Given the description of an element on the screen output the (x, y) to click on. 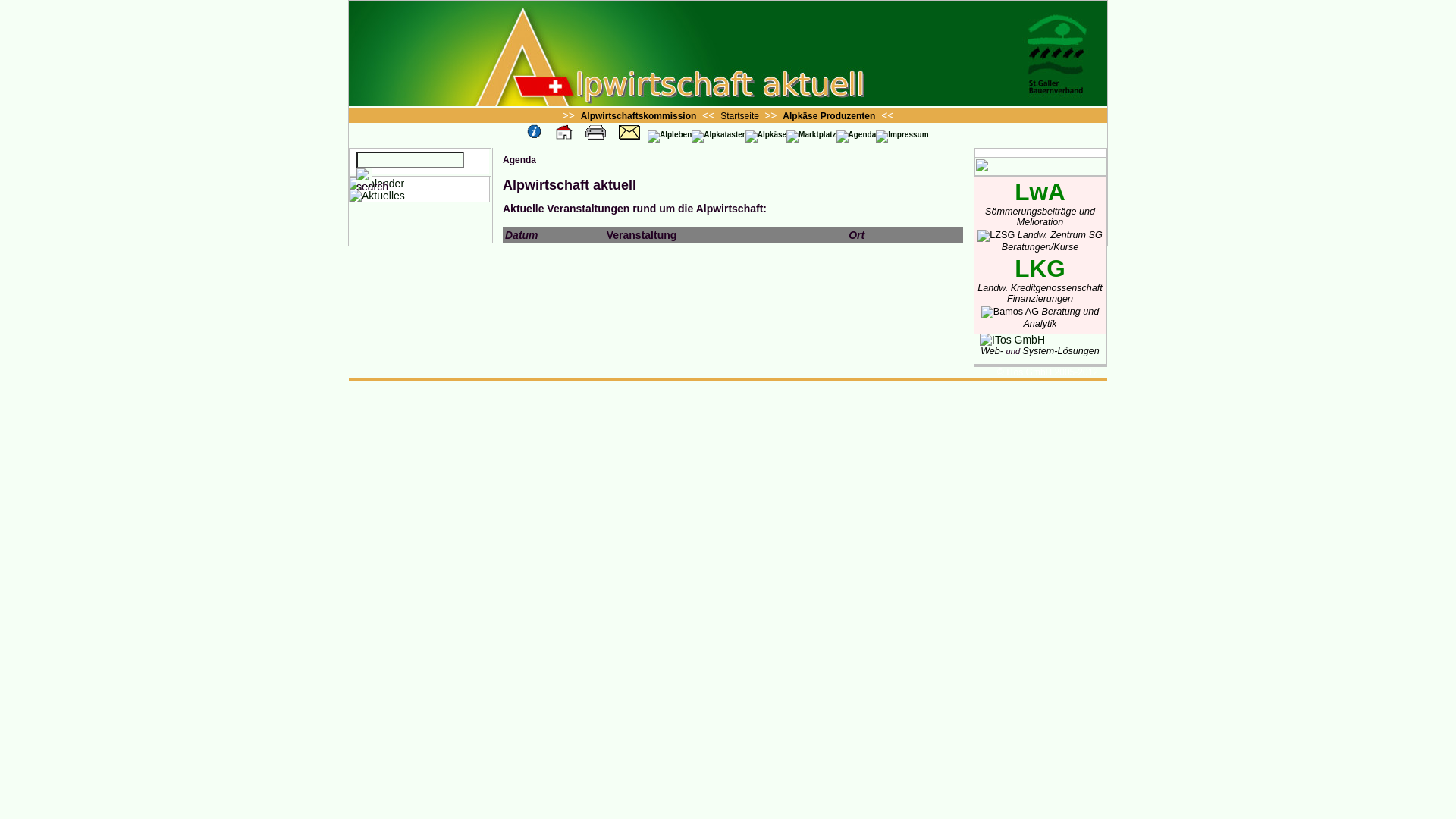
ITos GmbH Element type: hover (1011, 339)
LKG
Landw. Kreditgenossenschaft Finanzierungen Element type: text (1039, 286)
Mail Element type: hover (629, 132)
submit Element type: hover (364, 176)
Info Element type: hover (535, 132)
Landw. Zentrum SG Beratungen/Kurse Element type: text (1039, 240)
LZSG Element type: hover (995, 235)
Print Element type: hover (595, 132)
Web- Element type: text (992, 350)
Home Element type: hover (564, 132)
Bamos AG Element type: hover (1009, 312)
System- Element type: text (1039, 350)
Startseite Element type: text (740, 115)
Alpwirtschaftskommission Element type: text (638, 115)
Beratung und Analytik Element type: text (1039, 317)
